Given the description of an element on the screen output the (x, y) to click on. 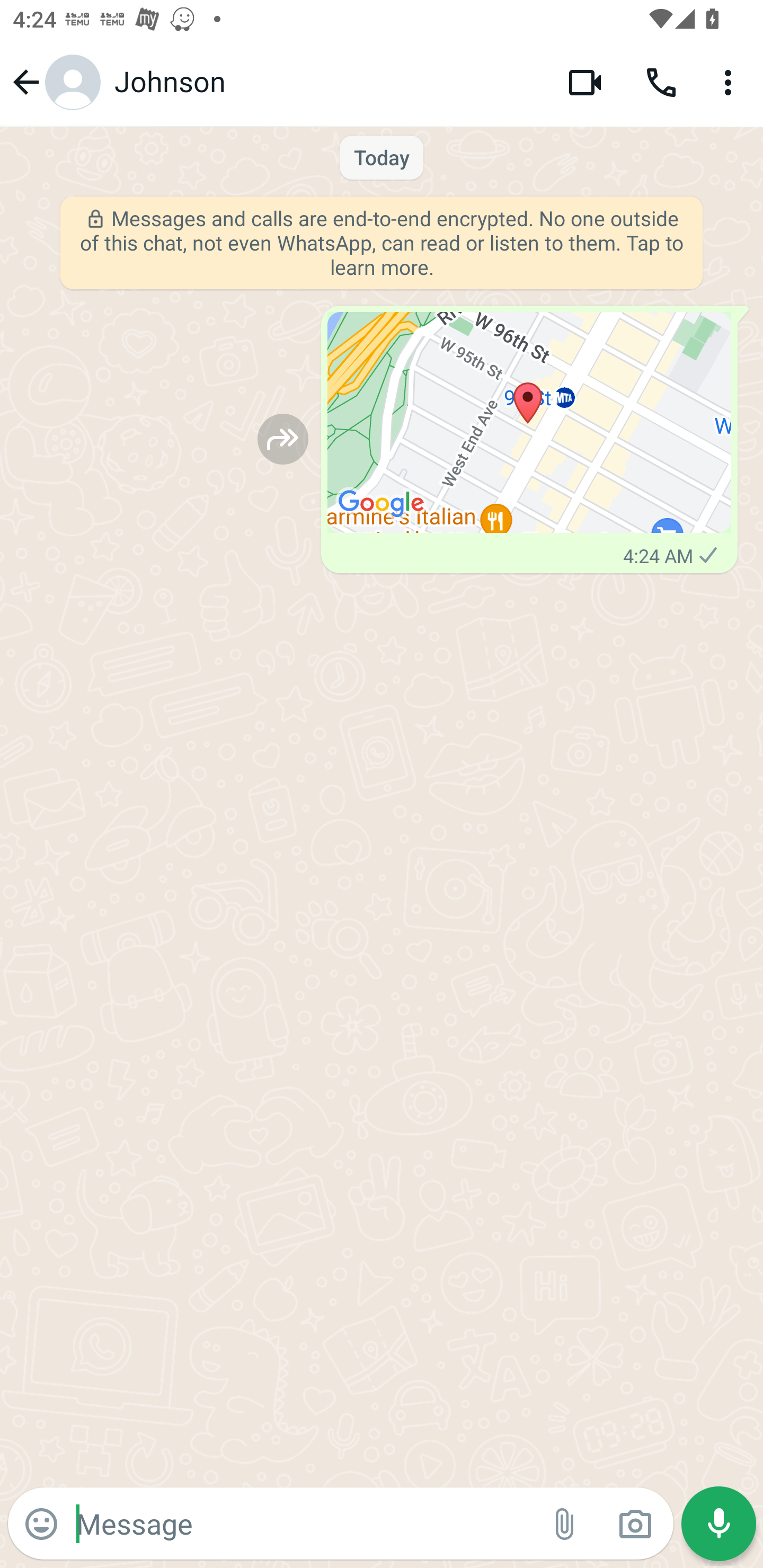
Johnson (327, 82)
Navigate up (54, 82)
Video call (585, 81)
Voice call (661, 81)
More options (731, 81)
Location (528, 422)
Forward to… (282, 438)
Emoji (41, 1523)
Attach (565, 1523)
Camera (634, 1523)
Message (303, 1523)
